Given the description of an element on the screen output the (x, y) to click on. 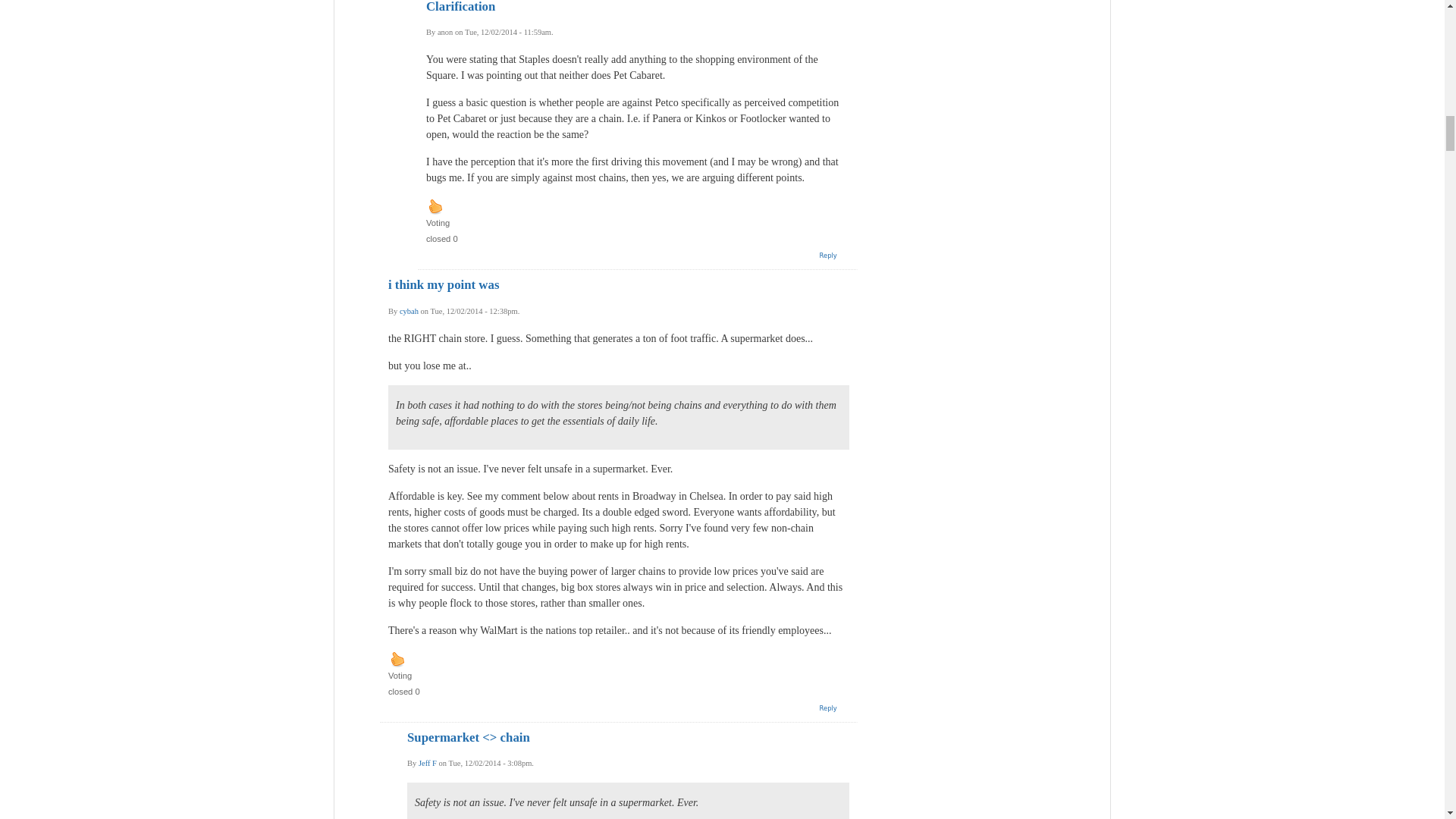
View user profile. (408, 311)
View user profile. (427, 763)
